Given the description of an element on the screen output the (x, y) to click on. 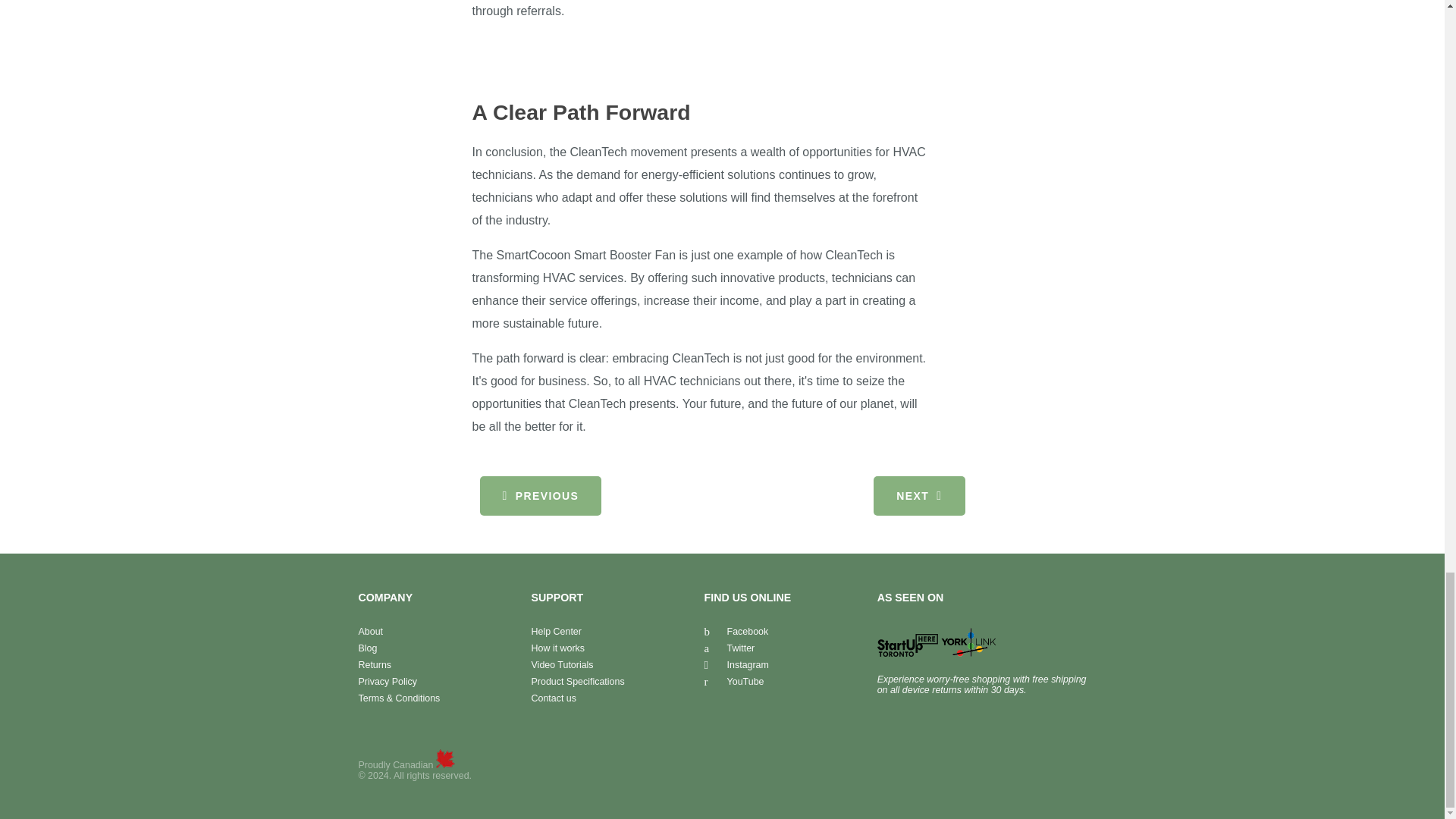
Help Center (555, 631)
NEXT (918, 495)
Twitter (729, 647)
YouTube (734, 681)
Video Tutorials (562, 665)
Contact us (553, 697)
How it works (558, 647)
Instagram (736, 665)
About (370, 631)
Returns (374, 665)
Facebook (736, 631)
Blog (367, 647)
Product Specifications (577, 681)
PREVIOUS (540, 495)
Privacy Policy (387, 681)
